Given the description of an element on the screen output the (x, y) to click on. 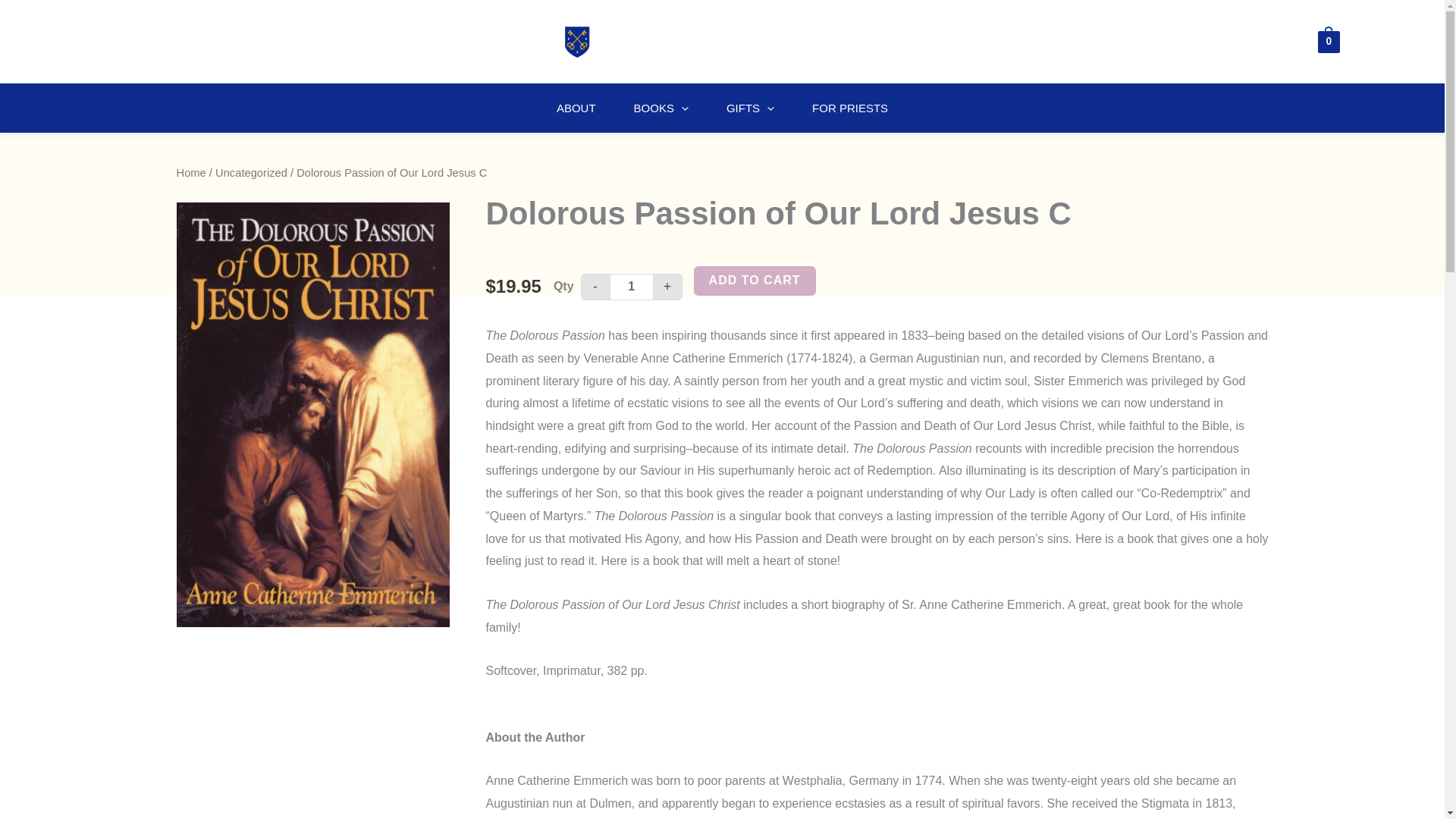
SIGN IN (1386, 41)
HELP (52, 40)
BOOKS (660, 107)
GIFTS (750, 107)
0 (1328, 41)
1 (631, 286)
ABOUT (575, 107)
FOR PRIESTS (850, 107)
